Given the description of an element on the screen output the (x, y) to click on. 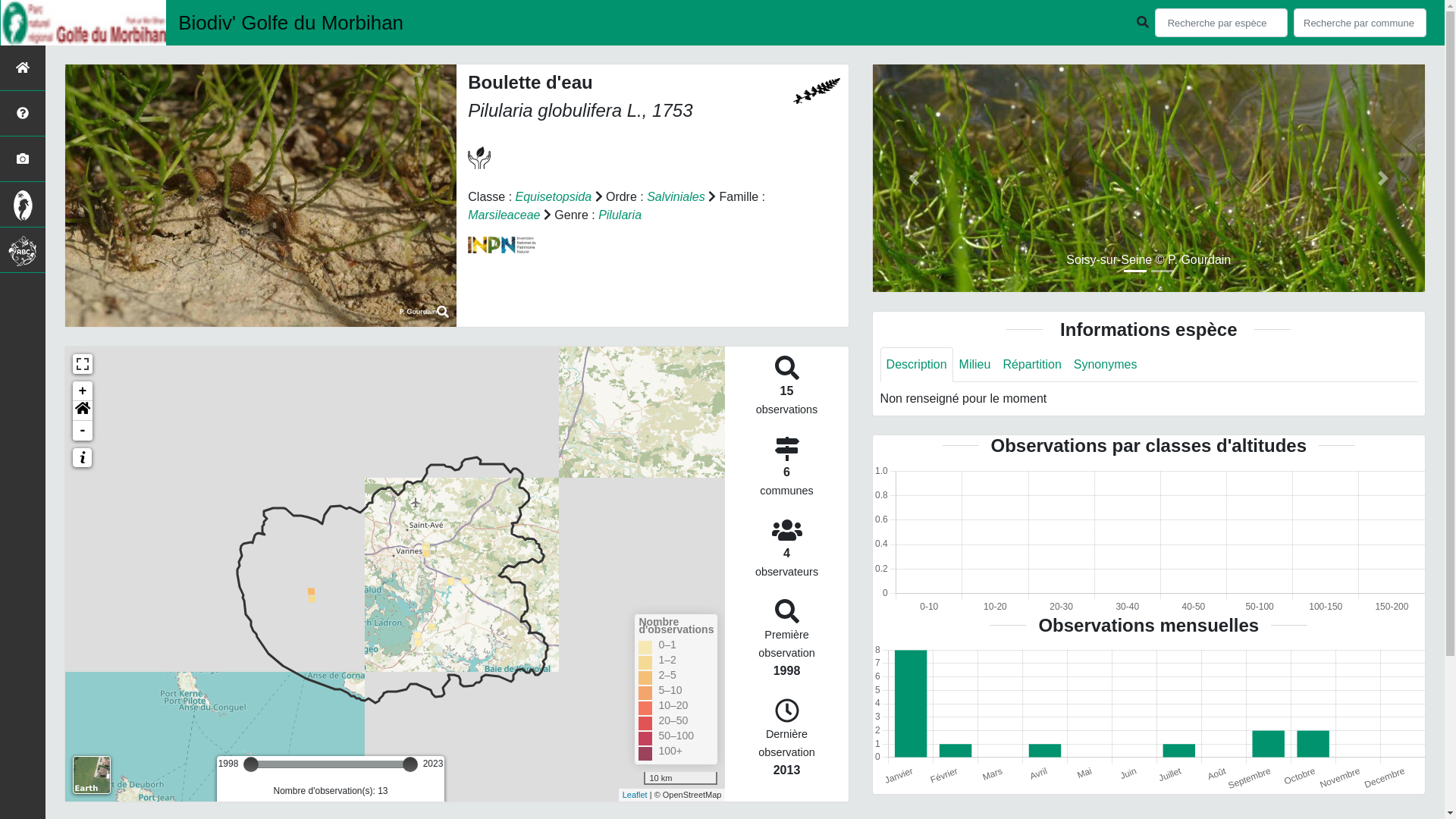
Home Element type: hover (82, 410)
Milieu Element type: text (975, 364)
Previous Element type: text (913, 177)
Salviniales Element type: text (675, 196)
Biodiv' Golfe du Morbihan Element type: text (298, 22)
Description Element type: text (916, 364)
Marsileaceae Element type: text (503, 214)
Leaflet Element type: text (634, 794)
Pilularia Element type: text (619, 214)
Equisetopsida Element type: text (553, 196)
- Element type: text (82, 430)
+ Element type: text (82, 391)
Synonymes Element type: text (1105, 364)
Next Element type: text (1383, 177)
